Given the description of an element on the screen output the (x, y) to click on. 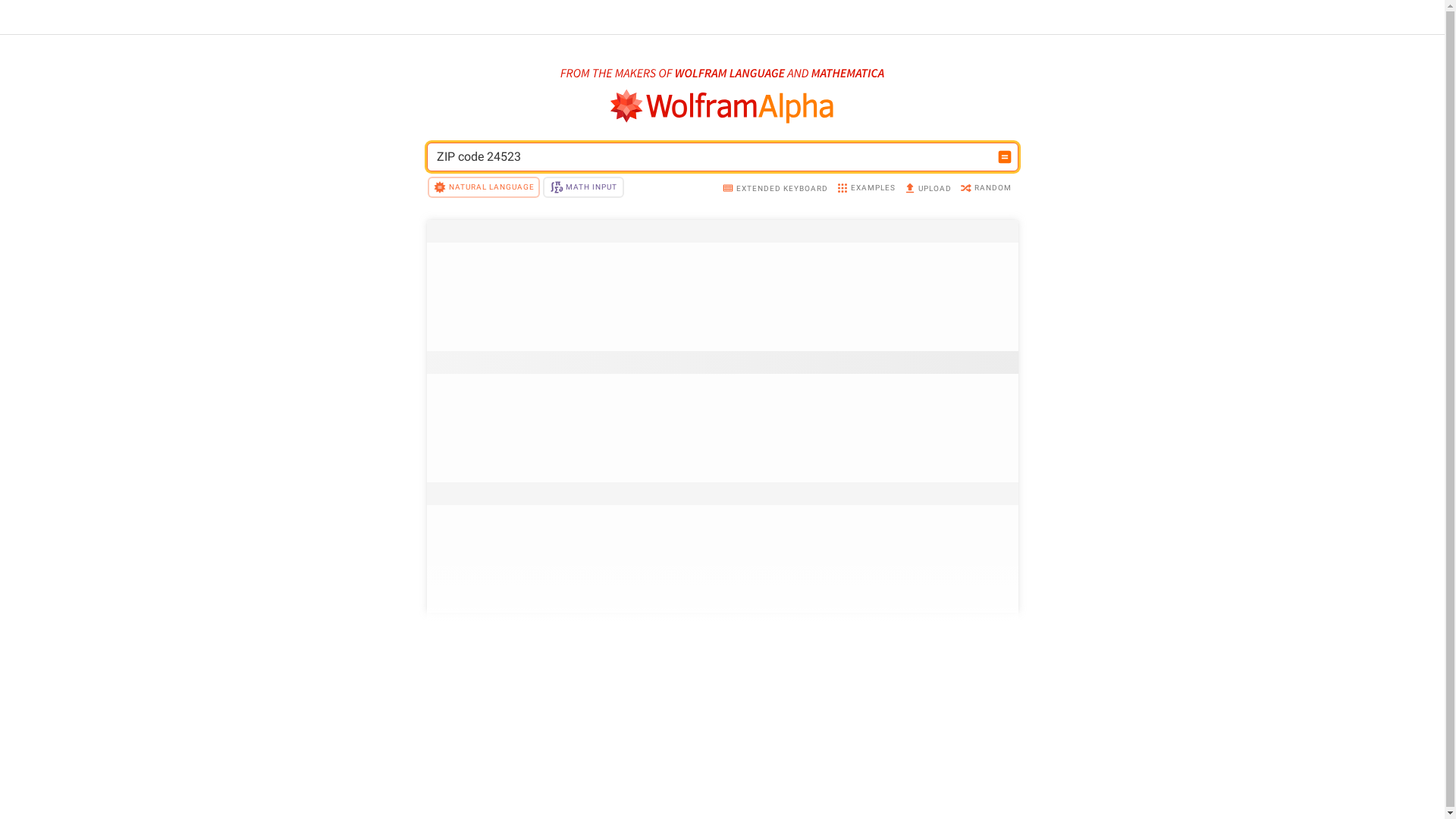
RANDOM Element type: text (985, 189)
UPLOAD Element type: text (927, 188)
MATH INPUT Element type: text (583, 186)
EXAMPLES Element type: text (864, 189)
EXTENDED KEYBOARD Element type: text (774, 188)
NATURAL LANGUAGE Element type: text (483, 186)
